Given the description of an element on the screen output the (x, y) to click on. 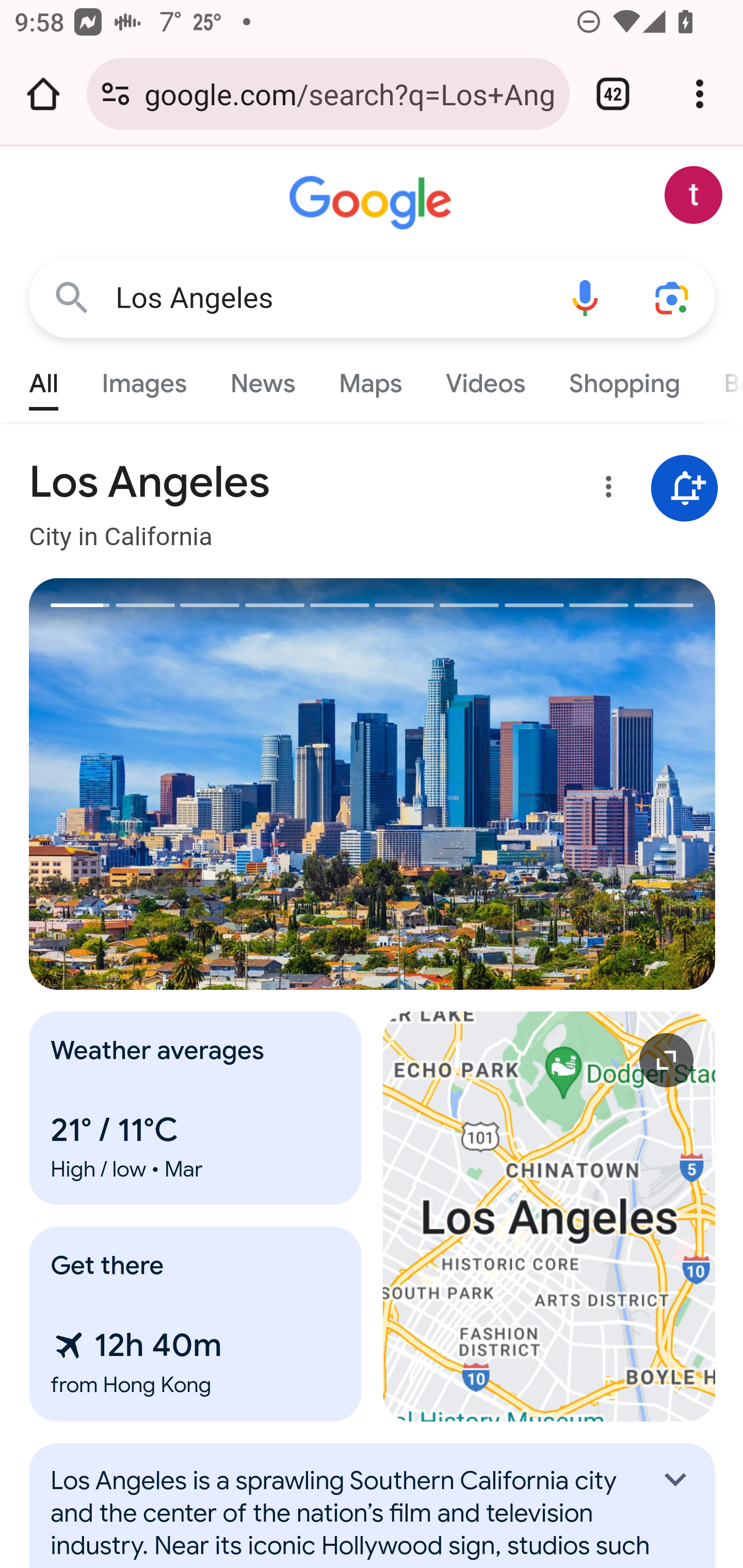
Open the home page (43, 93)
Connection is secure (115, 93)
Switch or close tabs (612, 93)
Customize and control Google Chrome (699, 93)
Google (372, 203)
Google Search (71, 296)
Search using your camera or photos (672, 296)
Los Angeles (328, 297)
Images (144, 378)
News (262, 378)
Maps (369, 378)
Videos (485, 378)
Shopping (623, 378)
Get notifications about Los Angeles (684, 489)
More options (605, 489)
Previous image (200, 783)
Next image (544, 783)
Weather averages 21° / 11°C High / low • Mar (195, 1108)
Expand map (549, 1216)
